Given the description of an element on the screen output the (x, y) to click on. 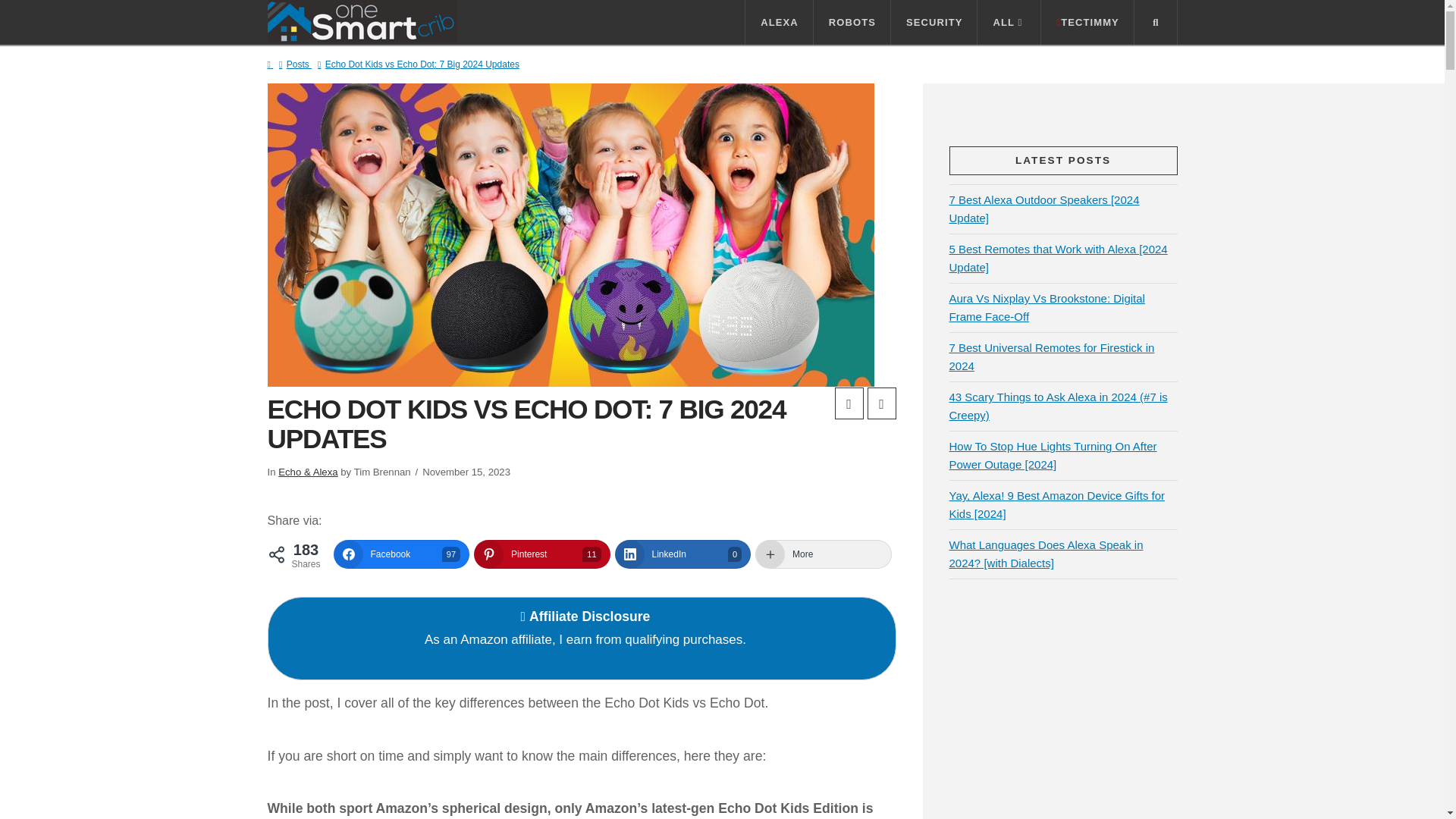
Posts (297, 64)
ALEXA (778, 22)
TECTIMMY (1087, 22)
SECURITY (933, 22)
You Are Here (421, 64)
Echo Dot Kids vs Echo Dot: 7 Big 2024 Updates (421, 64)
ALL (1008, 22)
ROBOTS (852, 22)
